Given the description of an element on the screen output the (x, y) to click on. 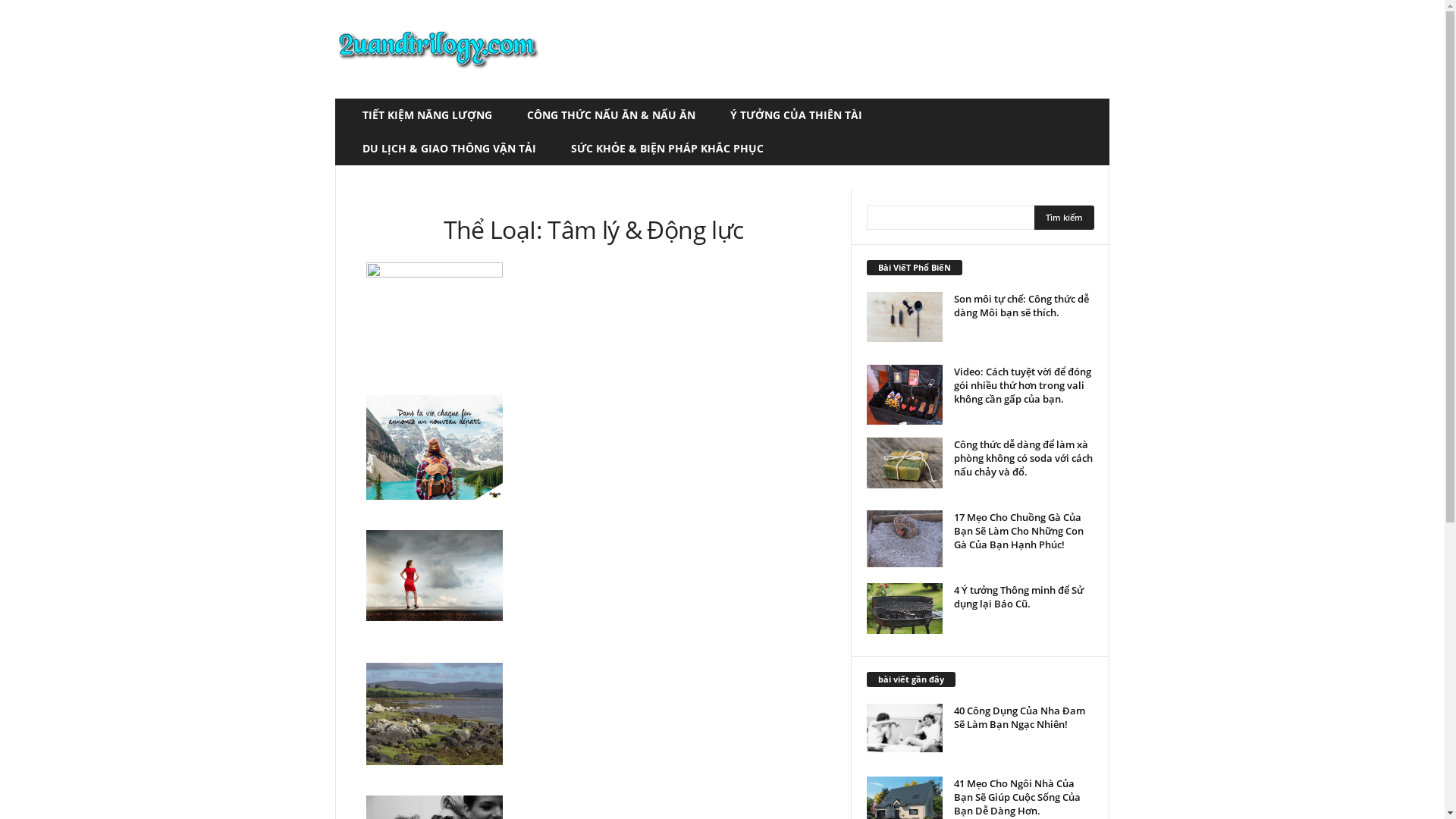
2uandtrilogy.com Element type: text (438, 49)
